Given the description of an element on the screen output the (x, y) to click on. 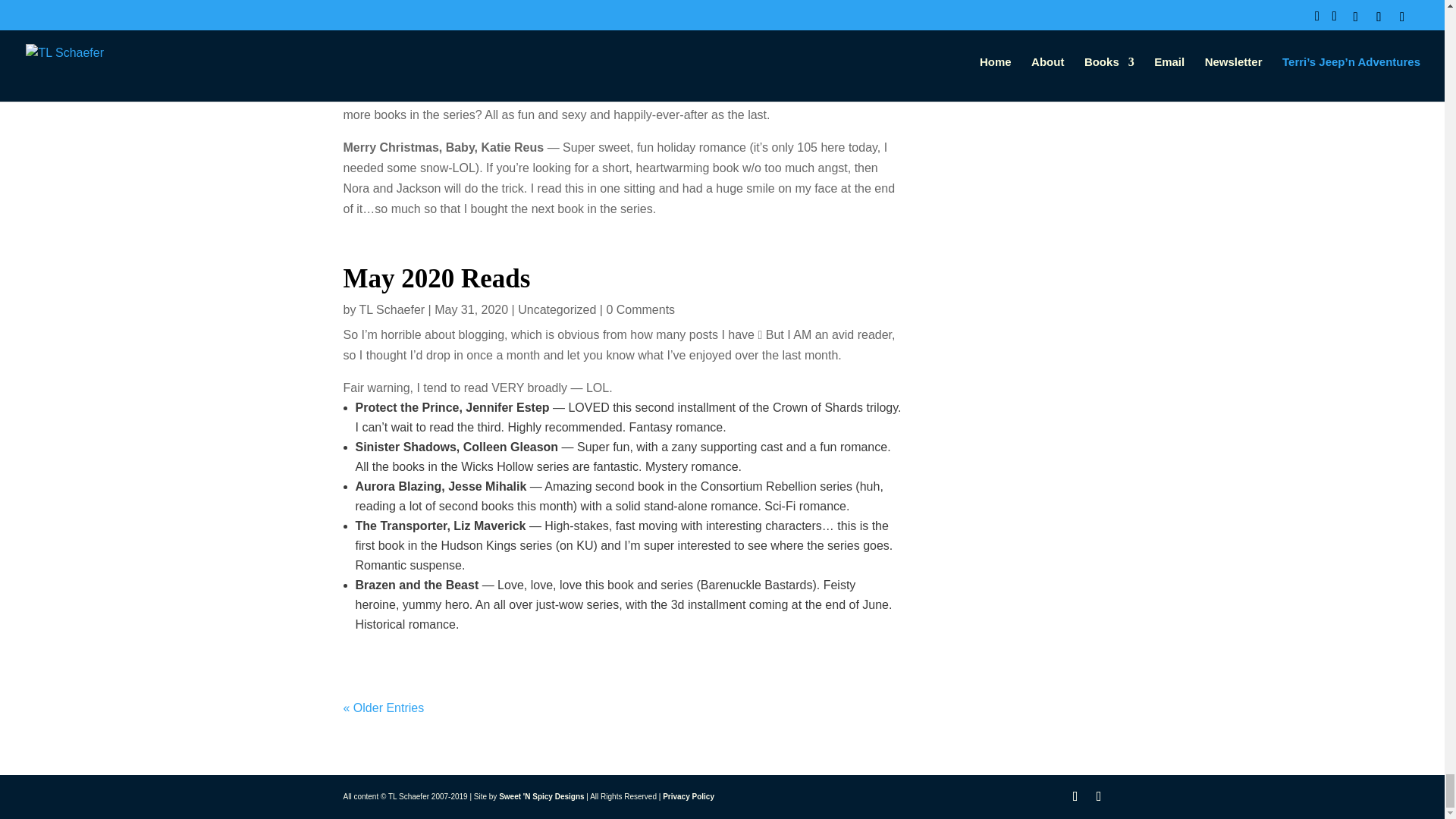
Posts by TL Schaefer (392, 308)
